Given the description of an element on the screen output the (x, y) to click on. 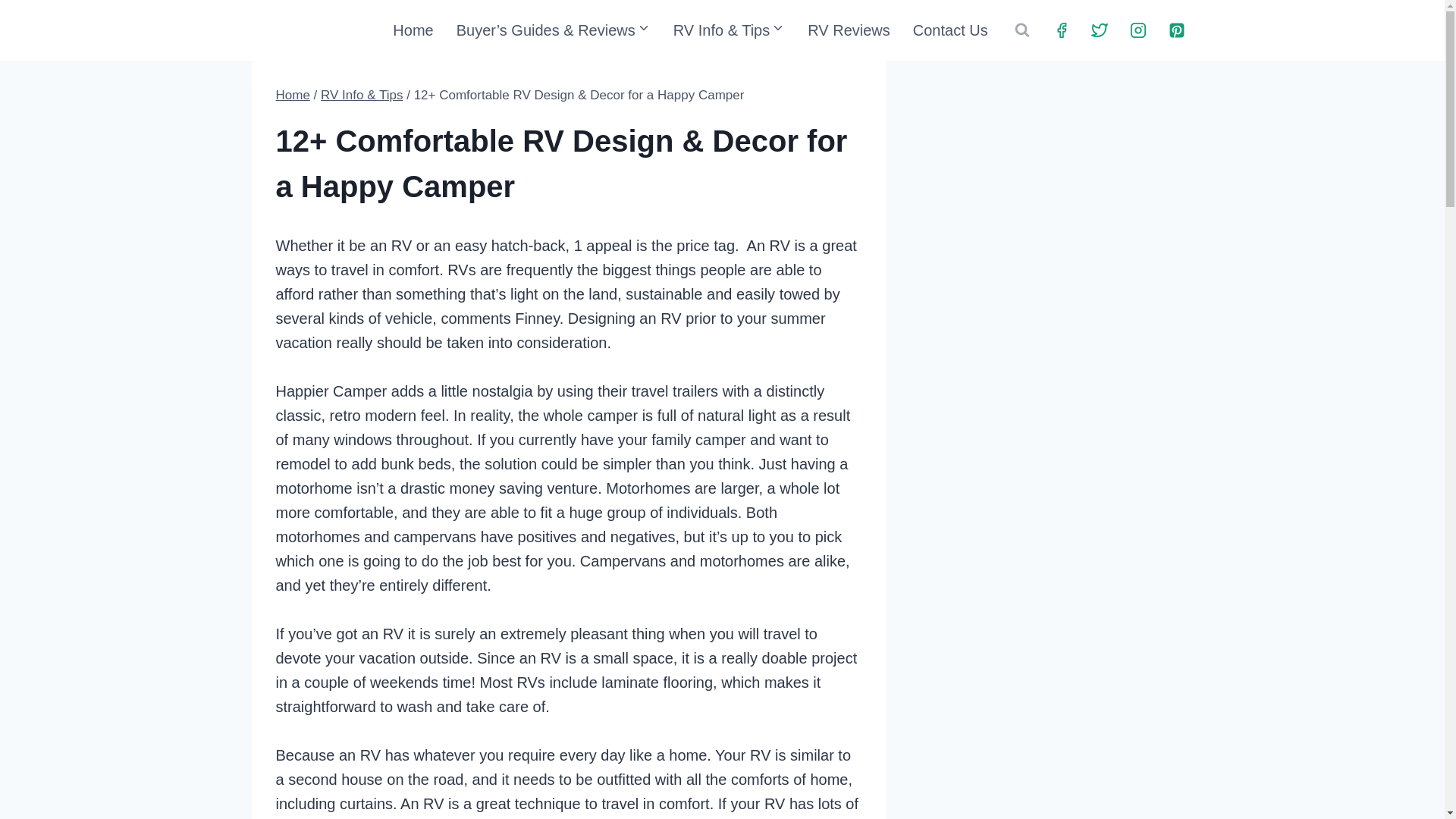
RV Reviews (848, 30)
Home (412, 30)
Home (293, 94)
Contact Us (949, 30)
